Given the description of an element on the screen output the (x, y) to click on. 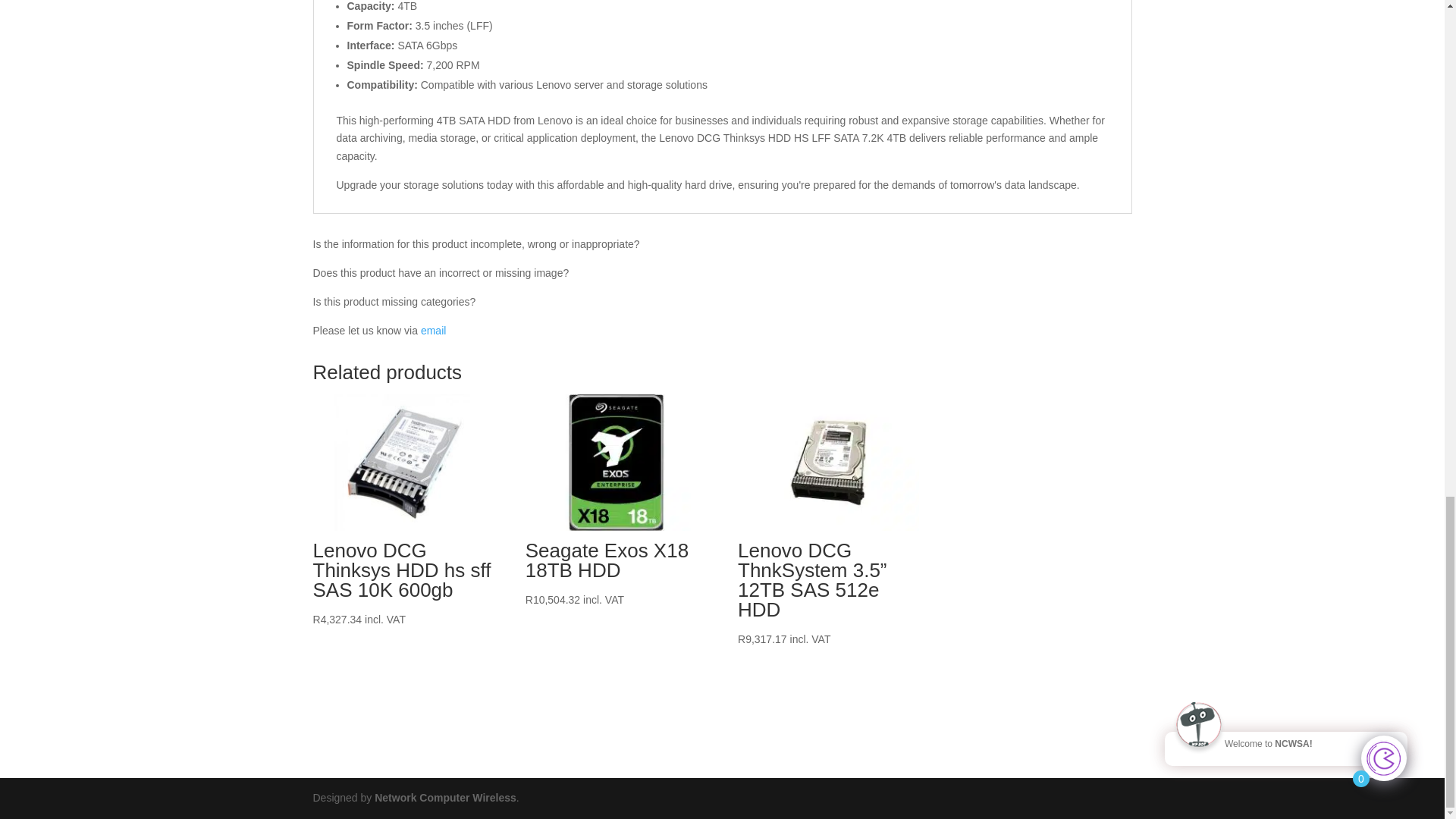
Wrong product details (432, 330)
